Given the description of an element on the screen output the (x, y) to click on. 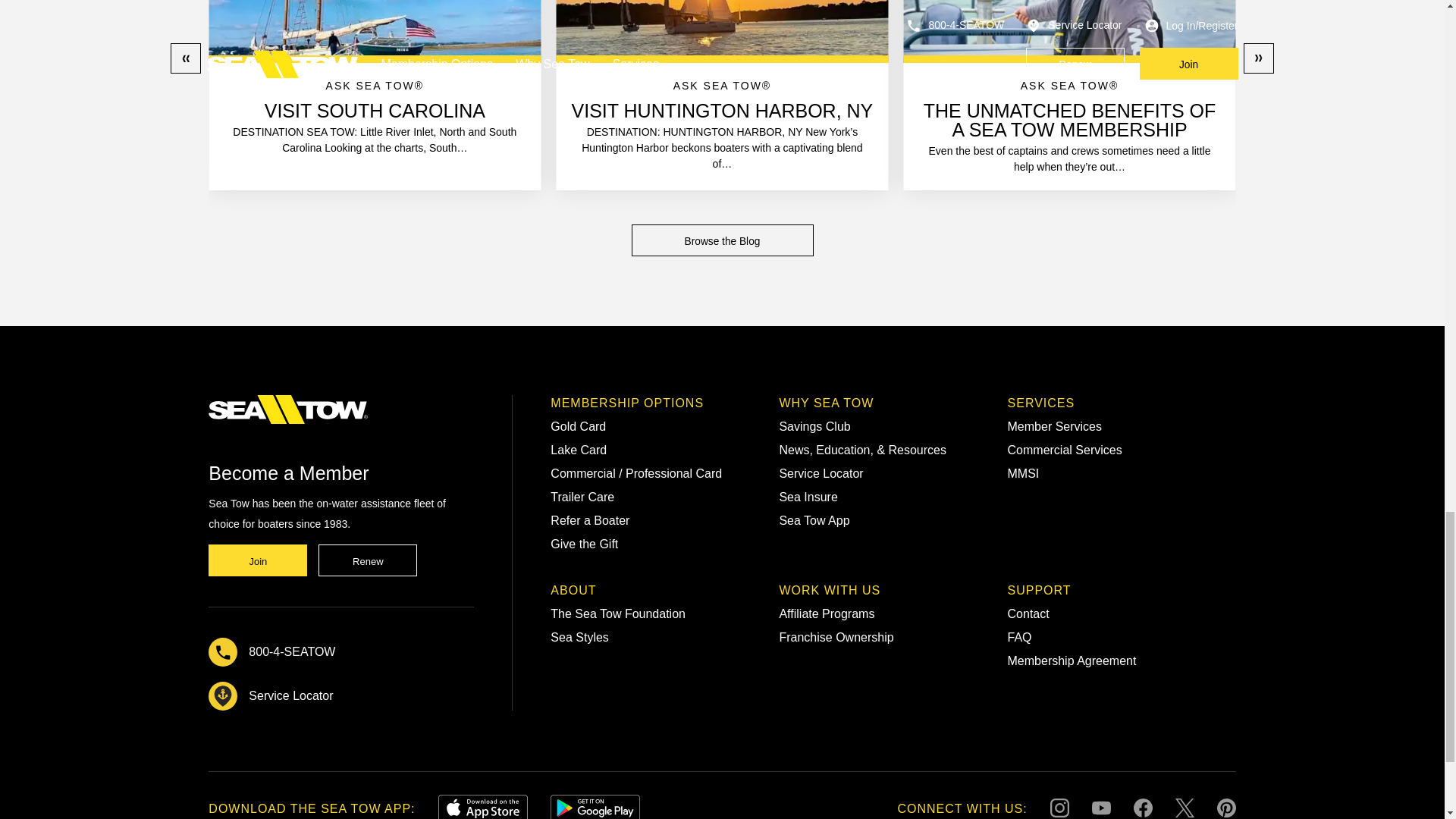
next (1258, 58)
prev (185, 58)
Browse the Blog (721, 240)
